Given the description of an element on the screen output the (x, y) to click on. 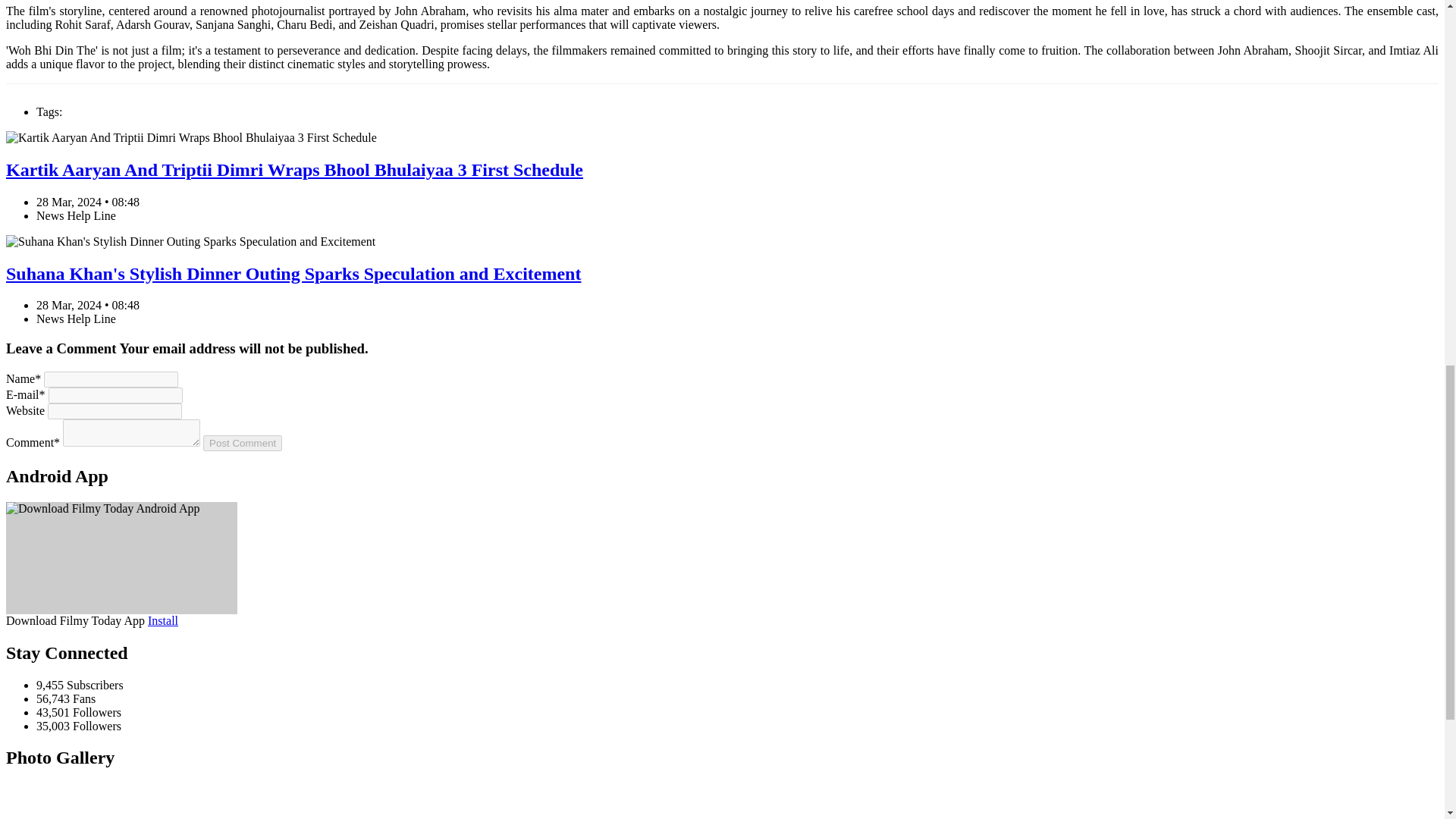
Download Filmy Today Android App (162, 620)
Post Comment (242, 442)
Install (162, 620)
